Given the description of an element on the screen output the (x, y) to click on. 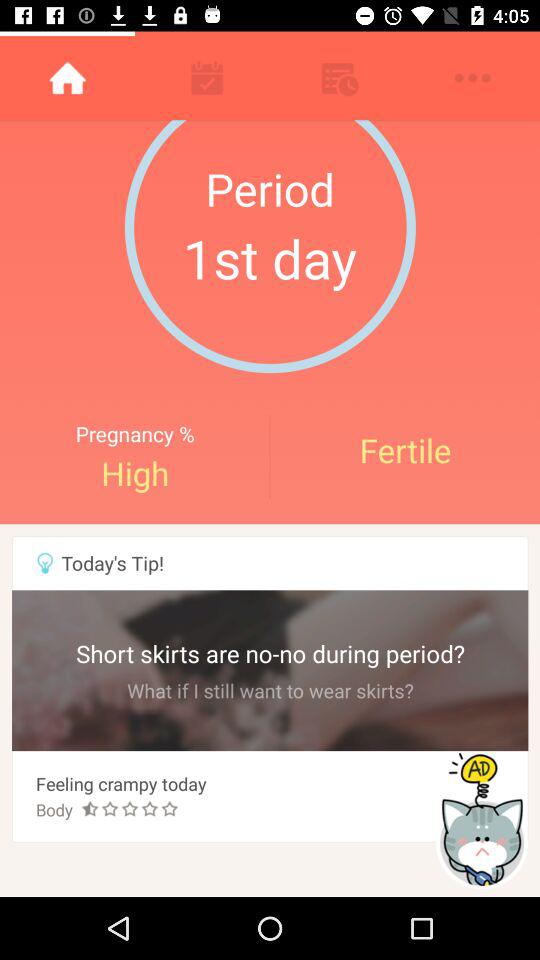
advertisement (484, 820)
